Given the description of an element on the screen output the (x, y) to click on. 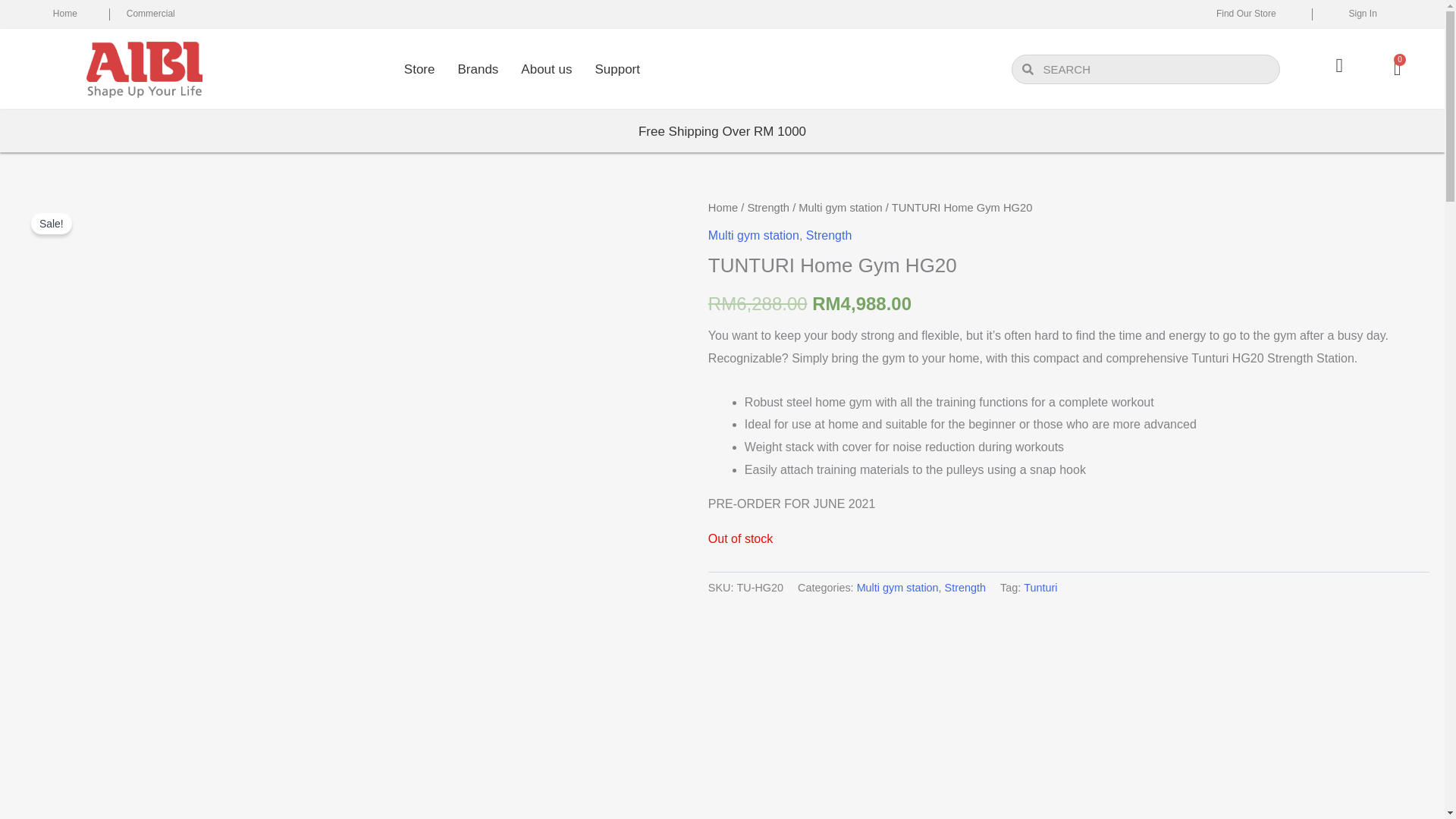
Sign In (1361, 13)
Store (419, 69)
Home (64, 13)
Find Our Store (1245, 13)
